Given the description of an element on the screen output the (x, y) to click on. 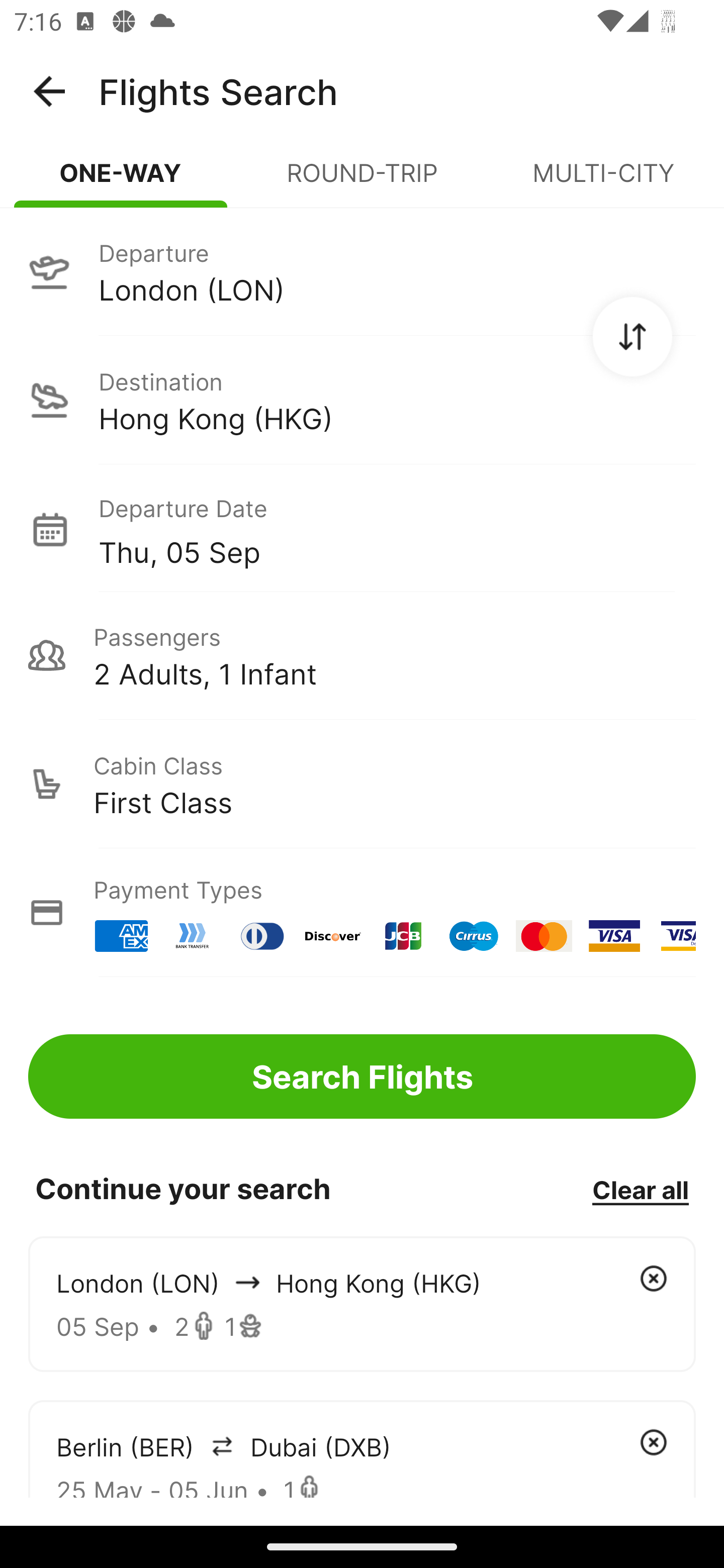
ONE-WAY (120, 180)
ROUND-TRIP (361, 180)
MULTI-CITY (603, 180)
Departure London (LON) (362, 270)
Destination Hong Kong (HKG) (362, 400)
Departure Date Thu, 05 Sep (396, 528)
Passengers 2 Adults, 1 Infant (362, 655)
Cabin Class First Class (362, 783)
Payment Types (362, 912)
Search Flights (361, 1075)
Clear all (640, 1189)
